Given the description of an element on the screen output the (x, y) to click on. 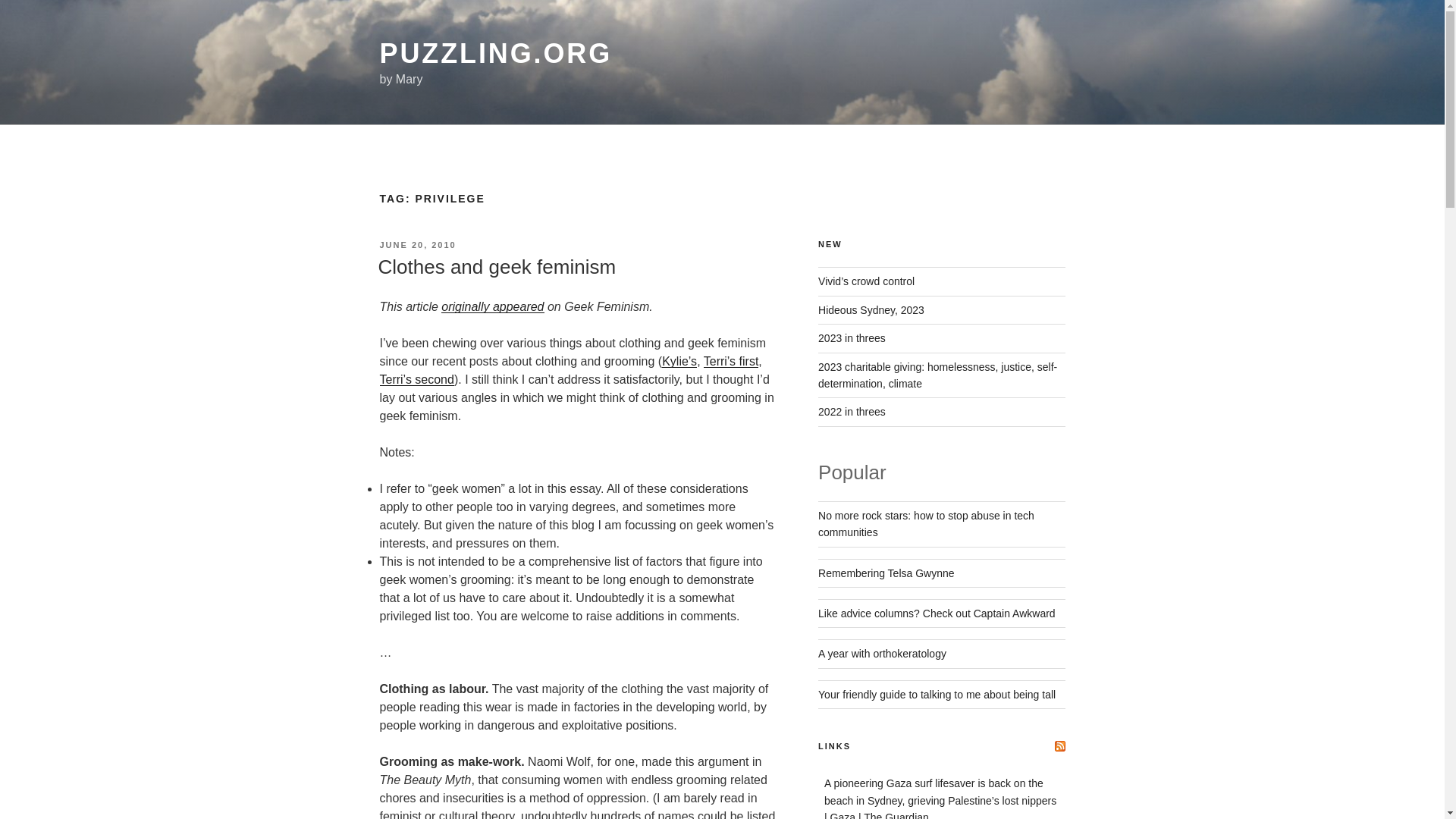
Like advice columns? Check out Captain Awkward (936, 613)
LINKS (834, 746)
Remembering Telsa Gwynne (886, 573)
JUNE 20, 2010 (416, 244)
2022 in threes (851, 411)
Clothes and geek feminism (496, 266)
Hideous Sydney, 2023 (871, 309)
Your friendly guide to talking to me about being tall (936, 694)
2023 in threes (851, 337)
No more rock stars: how to stop abuse in tech communities (925, 523)
originally appeared (492, 306)
A year with orthokeratology (882, 653)
PUZZLING.ORG (494, 52)
